Given the description of an element on the screen output the (x, y) to click on. 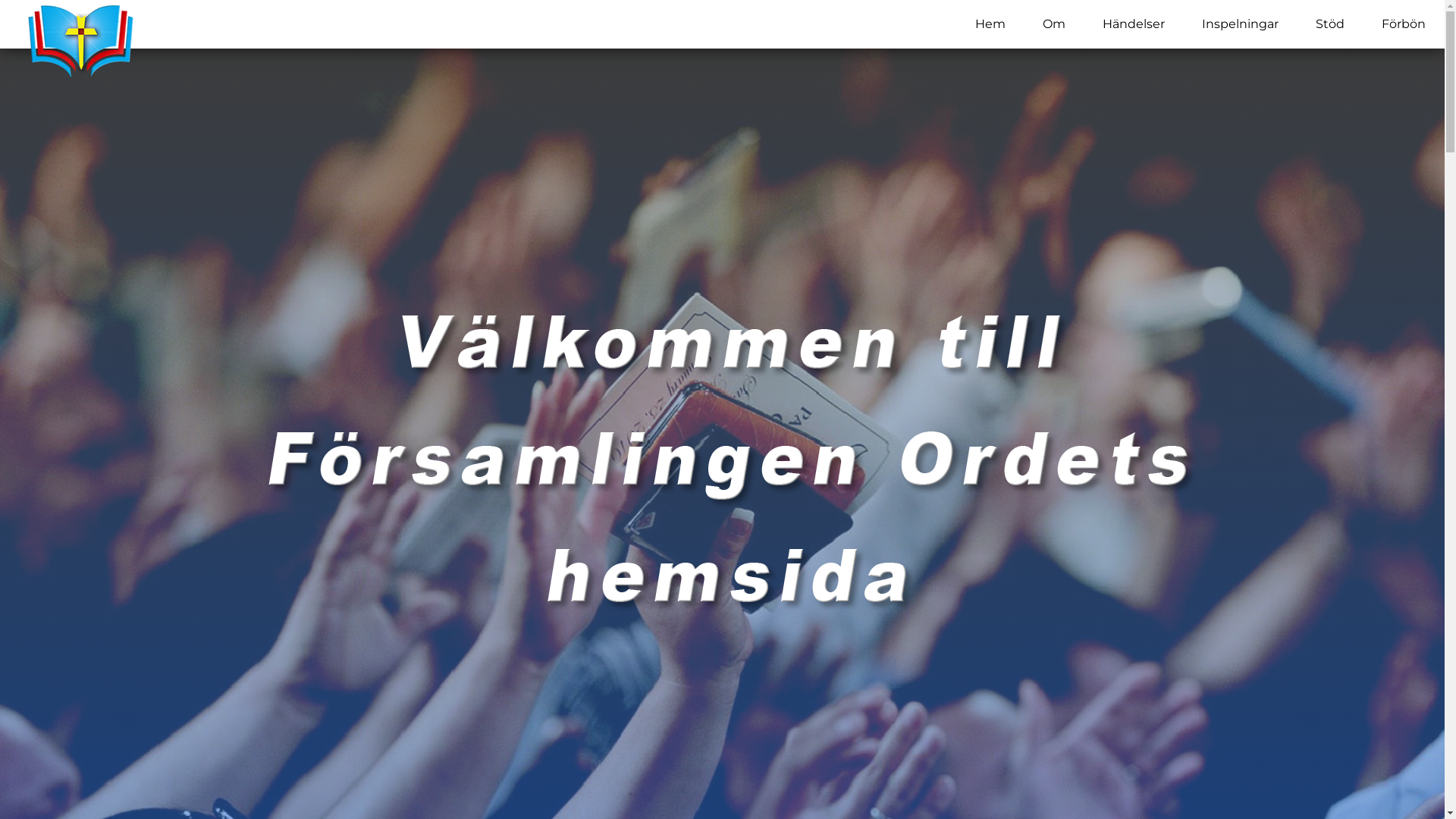
Hem Element type: text (990, 24)
Om Element type: text (1053, 24)
Inspelningar Element type: text (1239, 24)
